Given the description of an element on the screen output the (x, y) to click on. 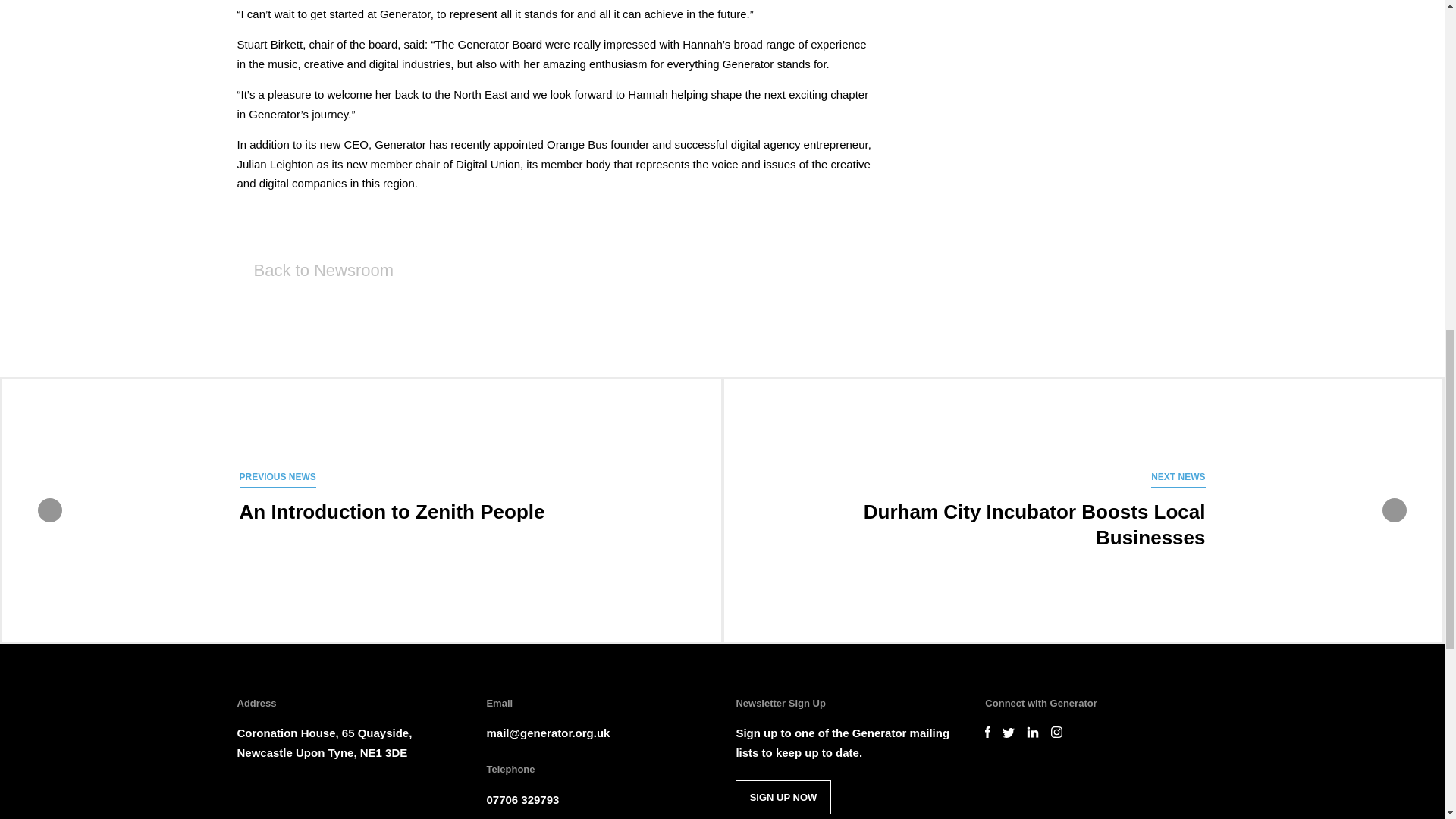
Return to the Newsroom (314, 270)
Back to Newsroom (314, 270)
Sign up to receive Generator updates (782, 797)
Read the entry titled 'An Introduction to Zenith People' (782, 797)
